Given the description of an element on the screen output the (x, y) to click on. 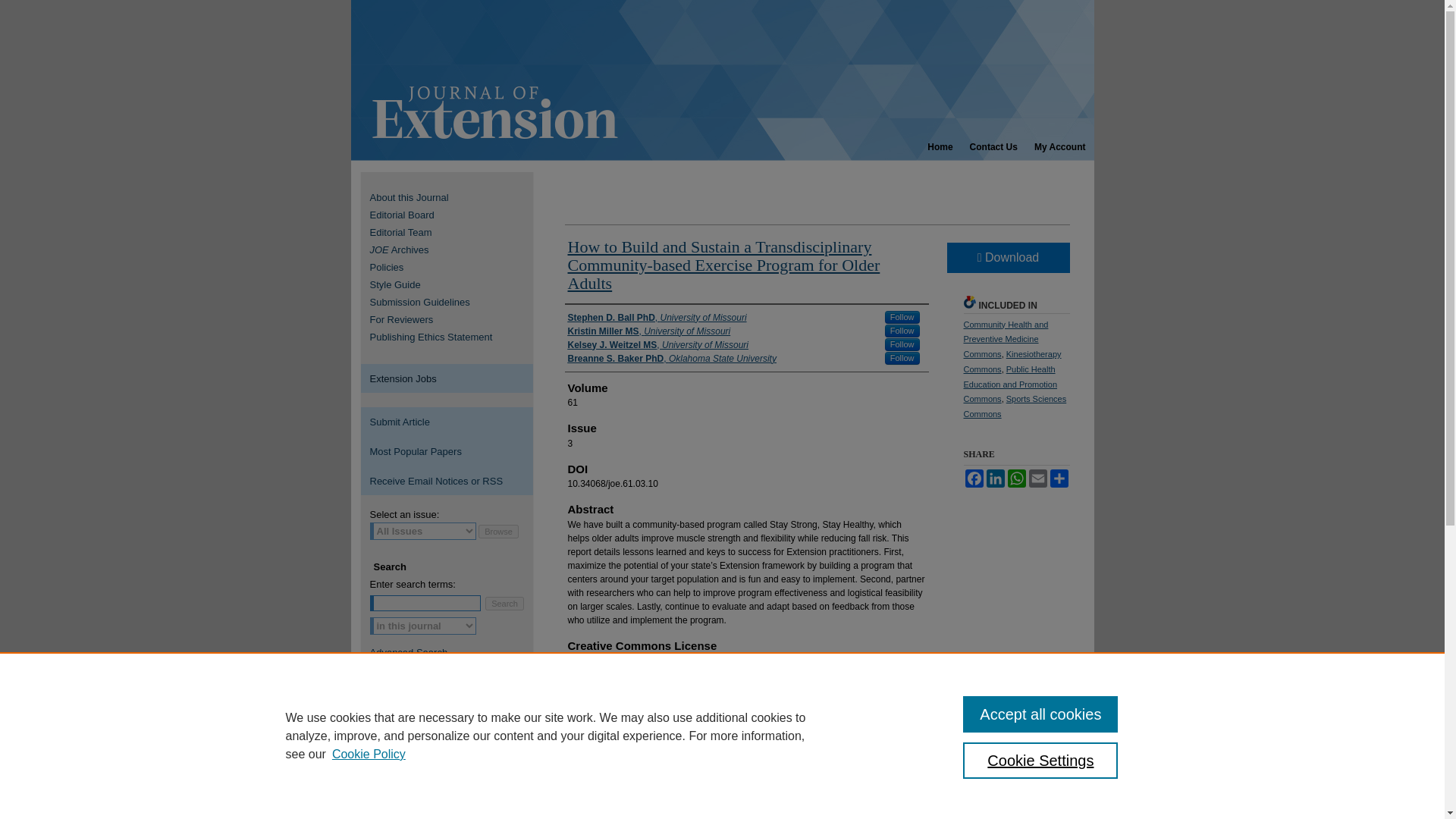
Community Health and Preventive Medicine Commons (1005, 339)
Follow Stephen D. Ball PhD (902, 317)
Kinesiotherapy Commons (1011, 361)
My Account (1060, 146)
Download (1007, 257)
Kristin Miller MS, University of Missouri (648, 331)
Search (504, 602)
The Journal of Extension (721, 80)
Sports Sciences Commons (1013, 405)
My Account (1060, 146)
Search (504, 602)
Browse (498, 531)
Follow Breanne S. Baker PhD (902, 358)
Home (939, 146)
